Given the description of an element on the screen output the (x, y) to click on. 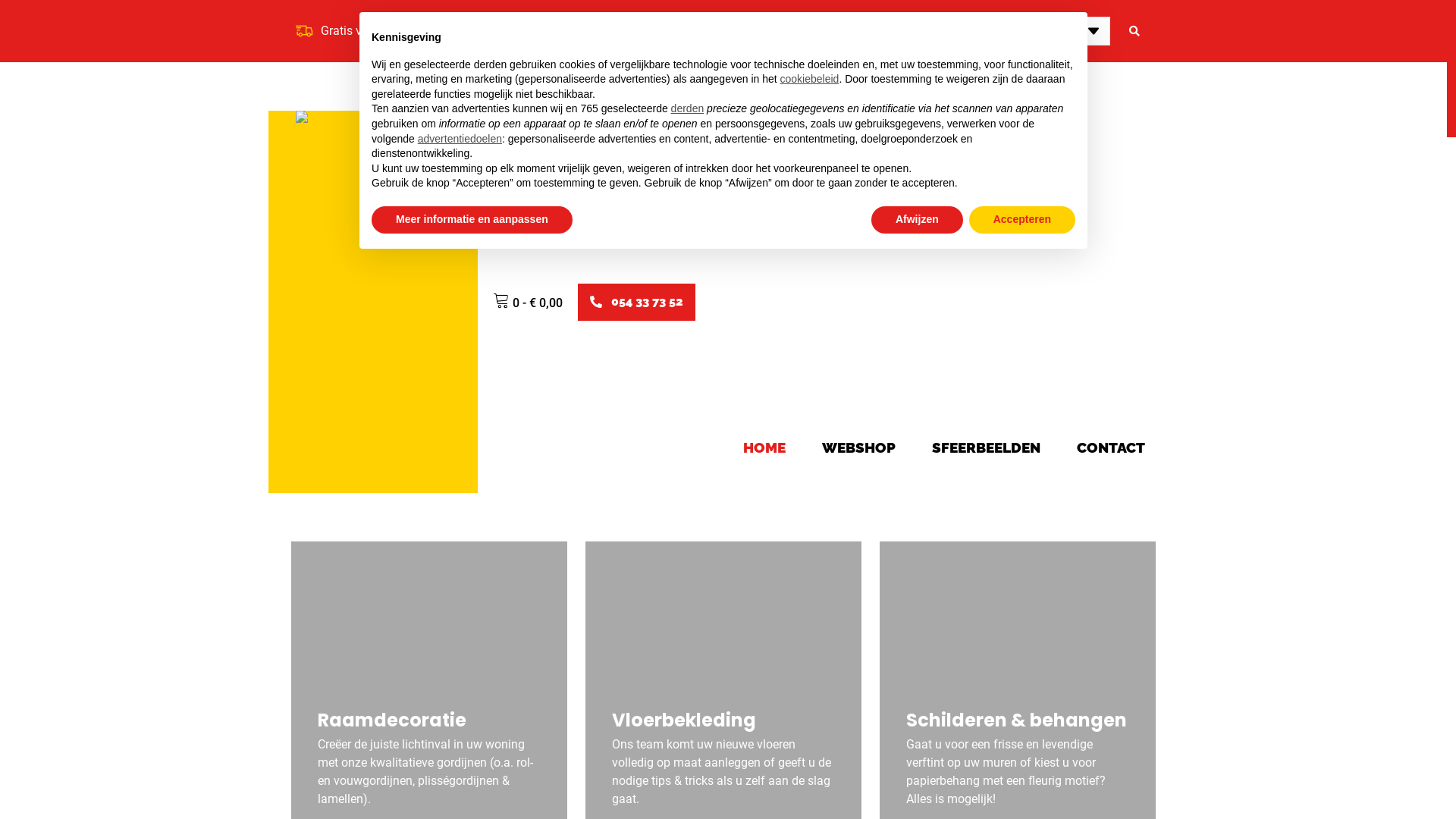
CONTACT Element type: text (1110, 446)
cookiebeleid Element type: text (809, 78)
Accepteren Element type: text (1022, 219)
WEBSHOP Element type: text (858, 446)
advertentiedoelen Element type: text (459, 138)
HOME Element type: text (763, 446)
Meer informatie en aanpassen Element type: text (471, 219)
derden Element type: text (687, 108)
Vacatures Element type: text (663, 30)
054 33 73 52 Element type: text (636, 301)
SFEERBEELDEN Element type: text (985, 446)
Afwijzen Element type: text (917, 219)
